Given the description of an element on the screen output the (x, y) to click on. 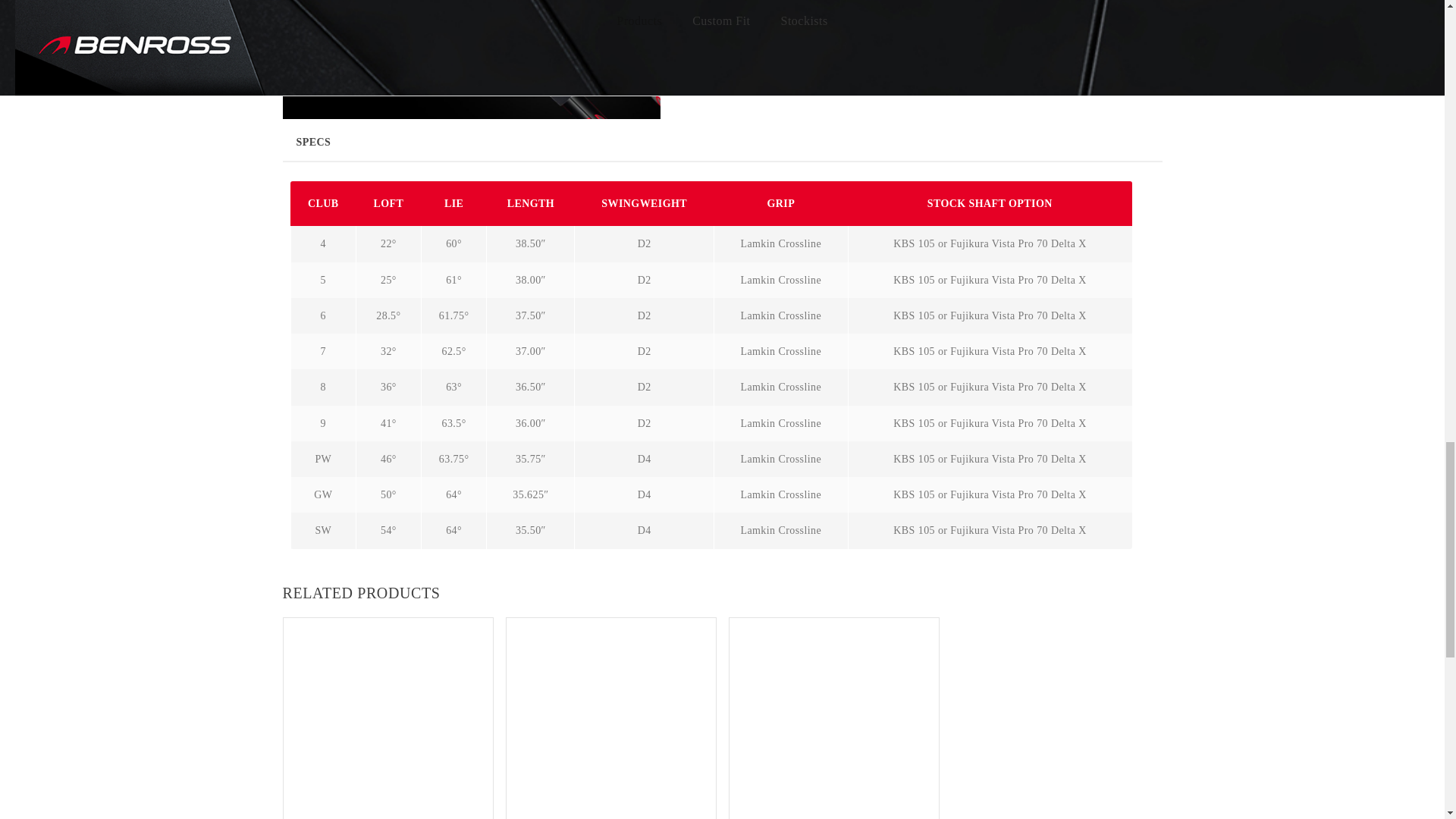
Delta X Driver (834, 718)
Delta X Fairway (388, 718)
Delta X Hybrid (611, 718)
